Given the description of an element on the screen output the (x, y) to click on. 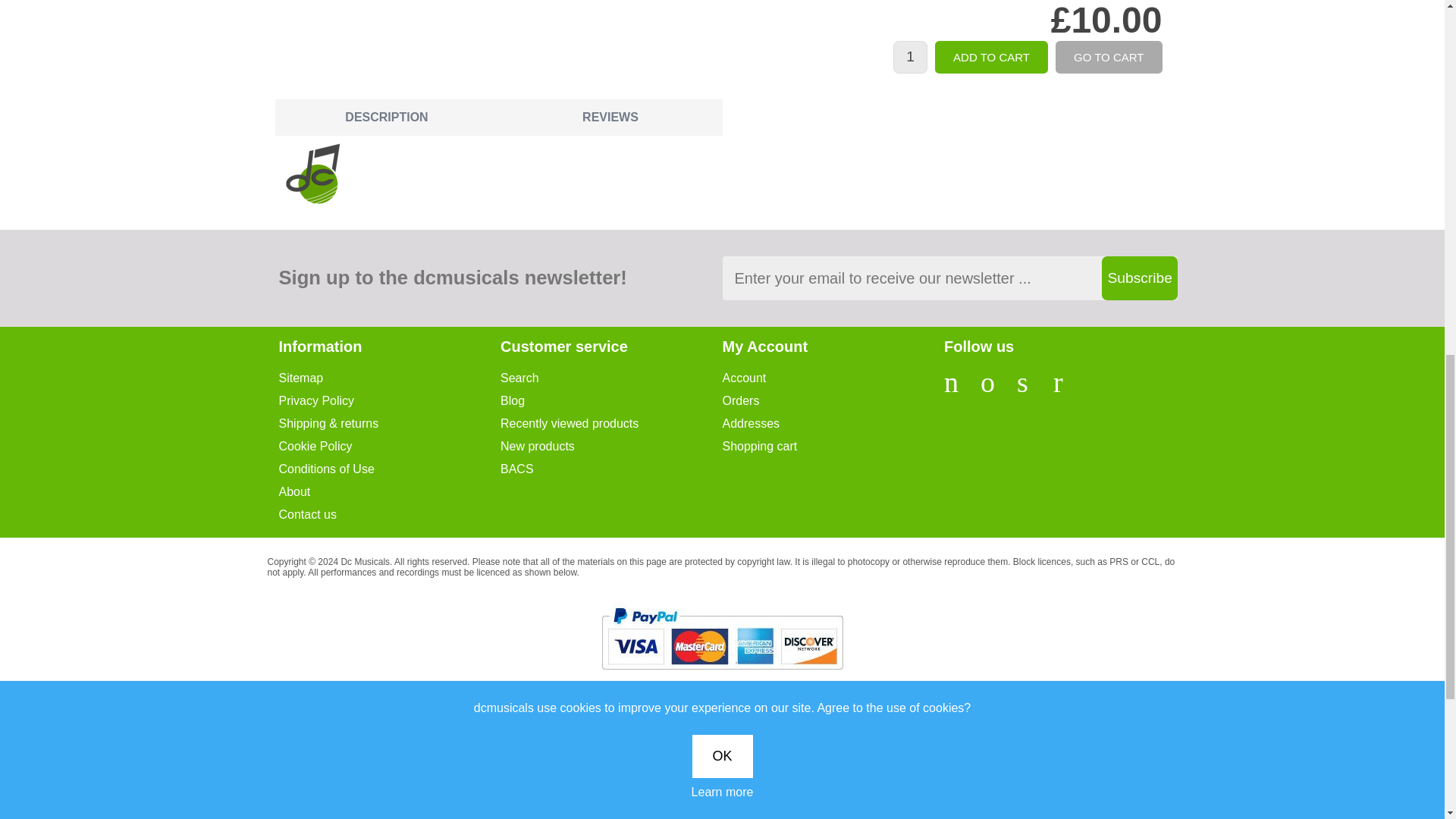
Subscribe (1138, 278)
BACS (611, 468)
Blog (611, 400)
1 (910, 56)
Shopping cart (832, 446)
Debbie Campbell Music (314, 174)
About (389, 491)
Recently viewed products (611, 423)
REVIEWS (610, 117)
Account (832, 378)
DESCRIPTION (386, 117)
Contact us (389, 514)
Sitemap (389, 378)
Privacy Policy (389, 400)
Add to cart (991, 56)
